Given the description of an element on the screen output the (x, y) to click on. 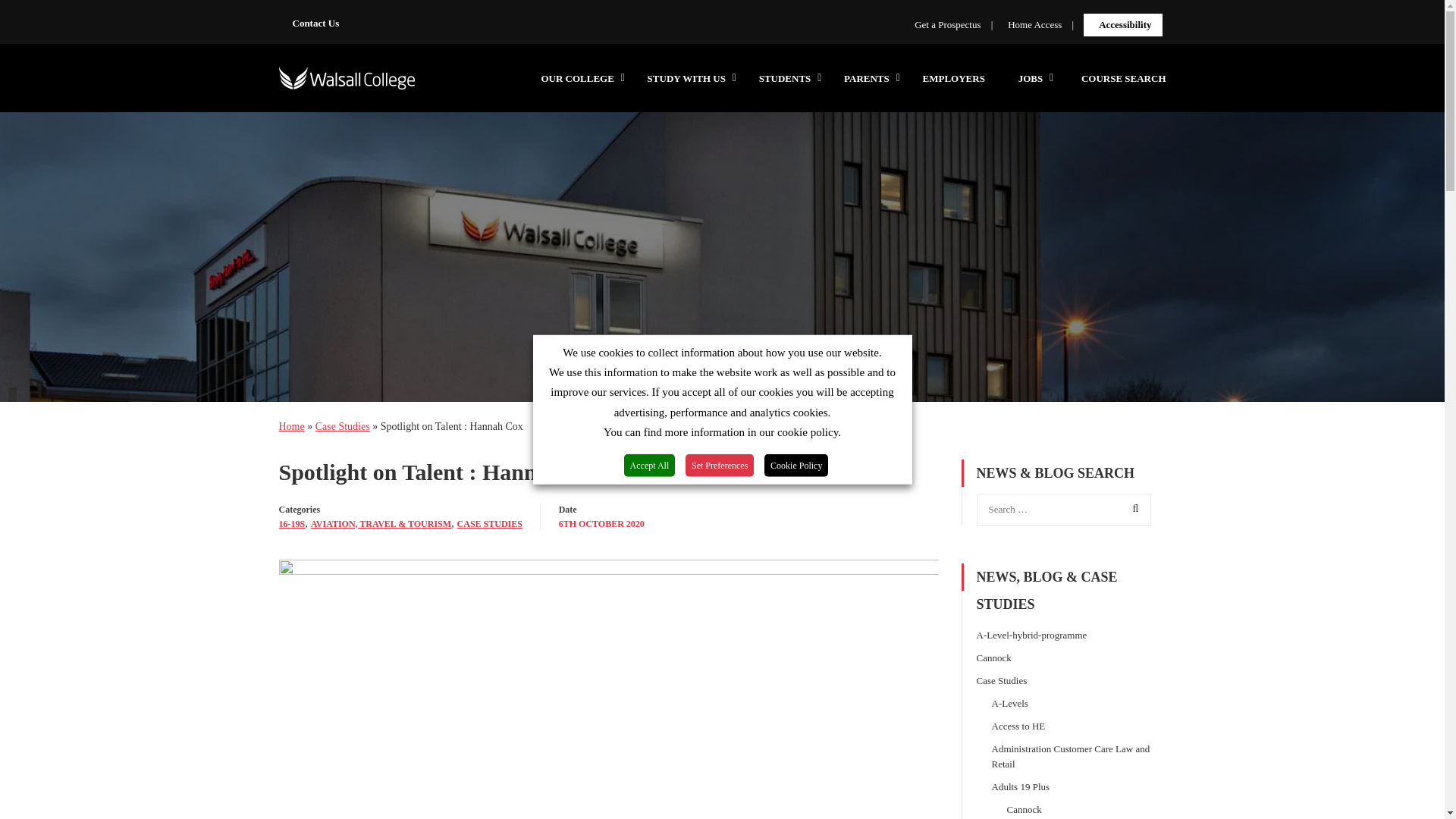
Walsall College -  (346, 85)
Search (1132, 508)
Search (1132, 508)
